Given the description of an element on the screen output the (x, y) to click on. 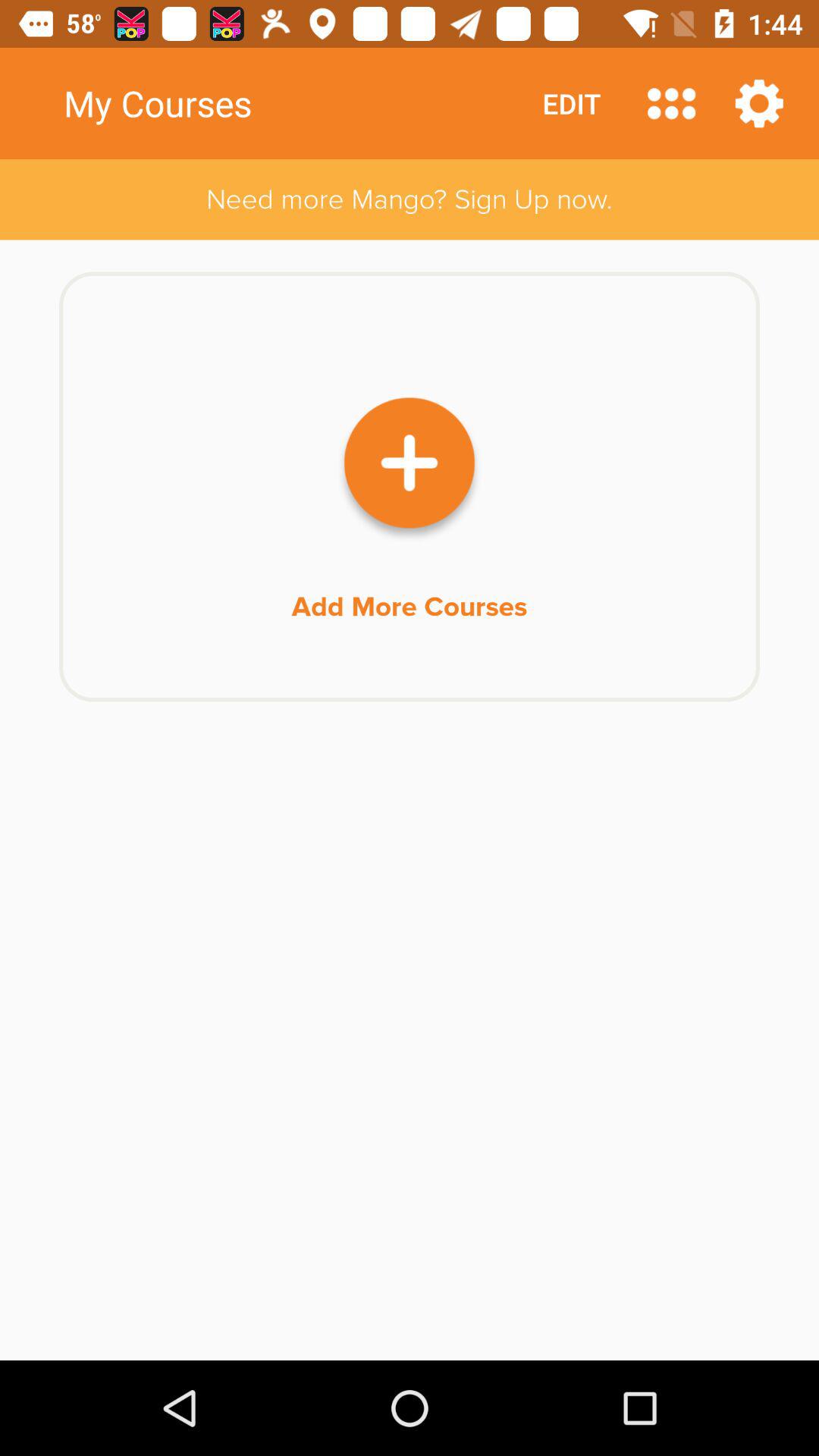
jump until edit icon (571, 103)
